Given the description of an element on the screen output the (x, y) to click on. 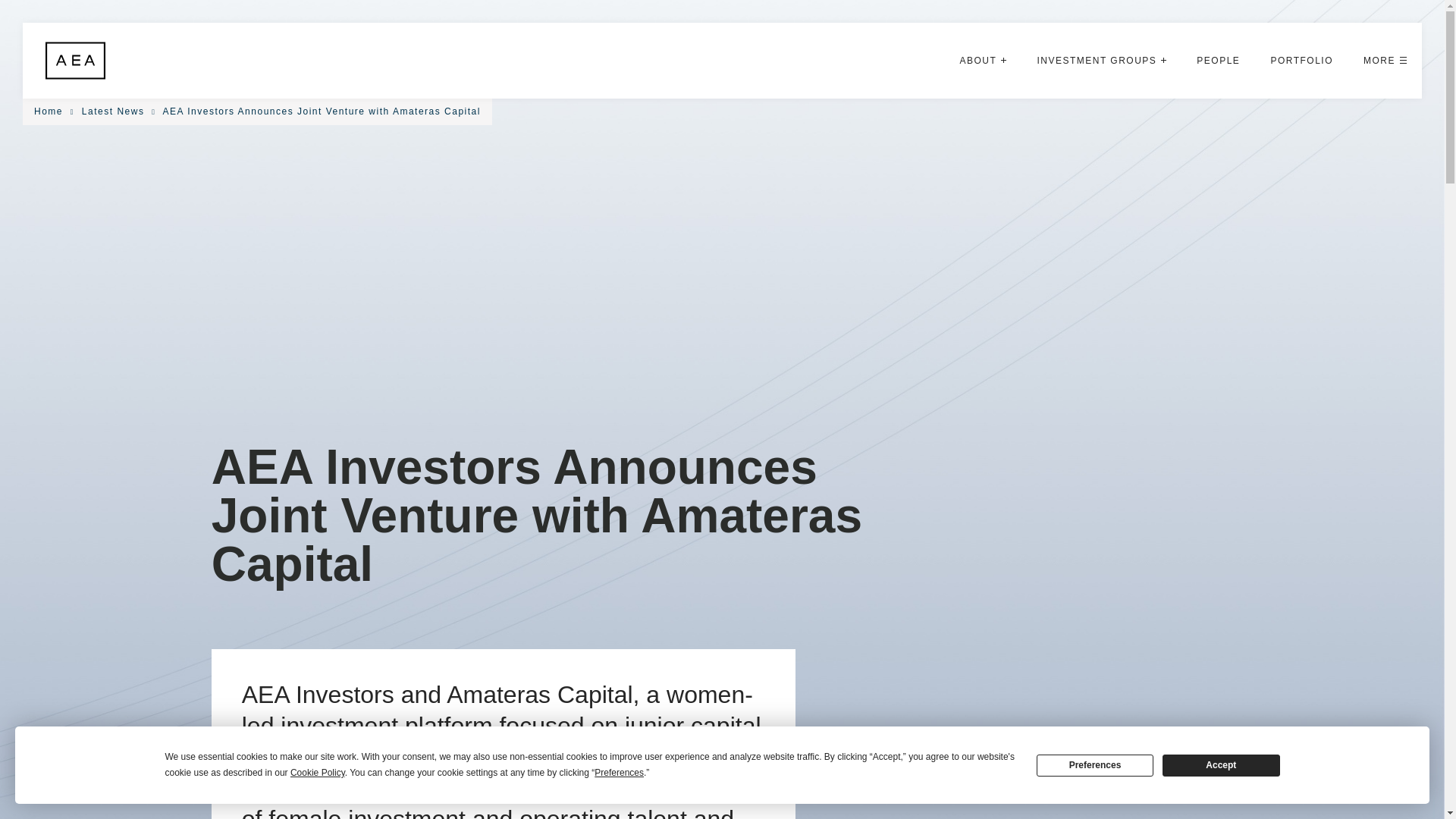
INVESTMENT GROUPS (1101, 60)
PORTFOLIO (1301, 60)
MORE (1385, 60)
PEOPLE (1217, 60)
Accept (1220, 764)
ABOUT (983, 60)
Preferences (1094, 764)
